Given the description of an element on the screen output the (x, y) to click on. 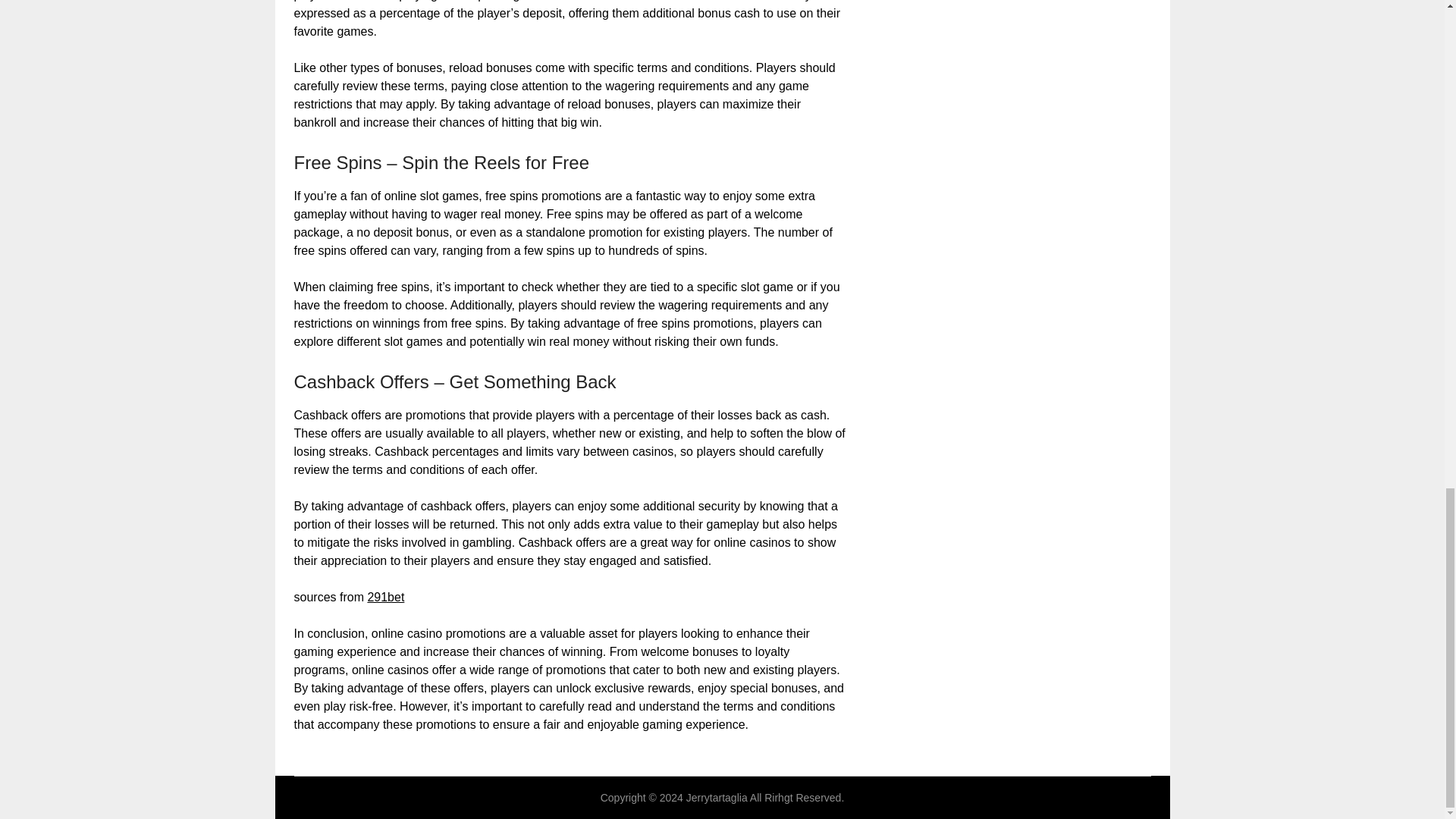
Jerrytartaglia (716, 797)
291bet (385, 596)
